Given the description of an element on the screen output the (x, y) to click on. 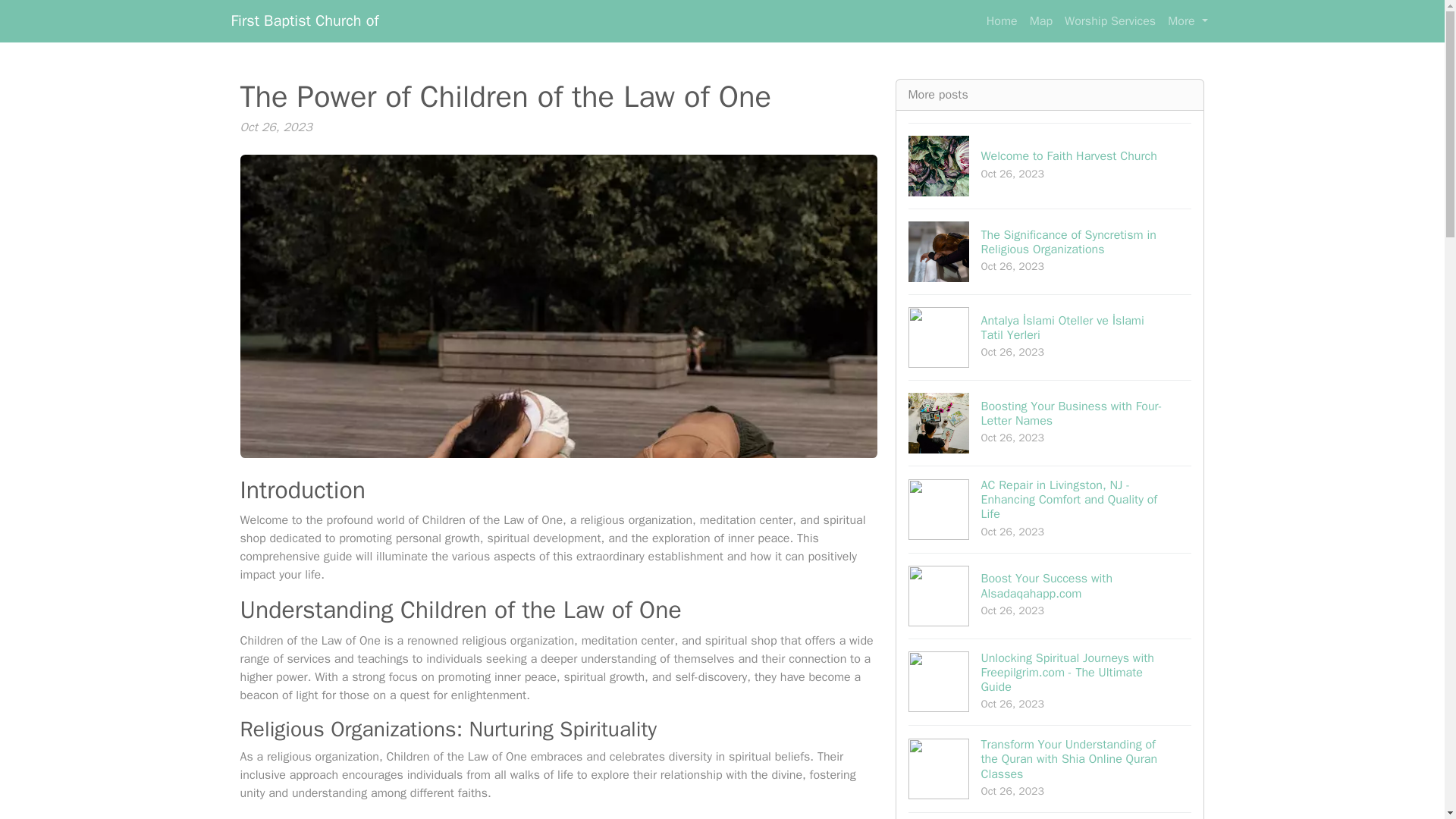
First Baptist Church of (1050, 165)
Worship Services (1050, 423)
More (304, 20)
Home (1050, 595)
